Given the description of an element on the screen output the (x, y) to click on. 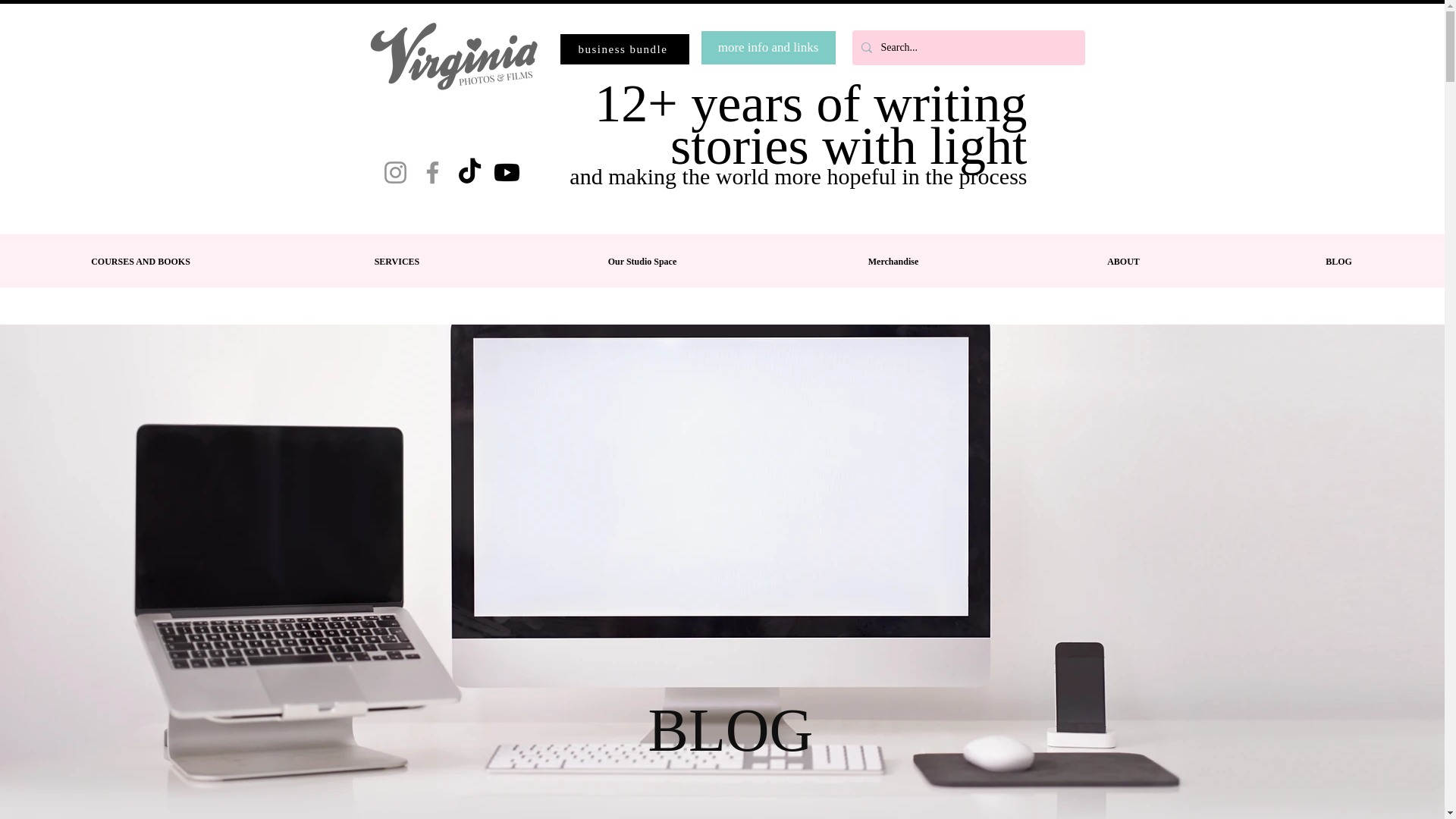
business bundle (623, 49)
Merchandise (892, 261)
Our Studio Space (641, 261)
more info and links (767, 47)
